Given the description of an element on the screen output the (x, y) to click on. 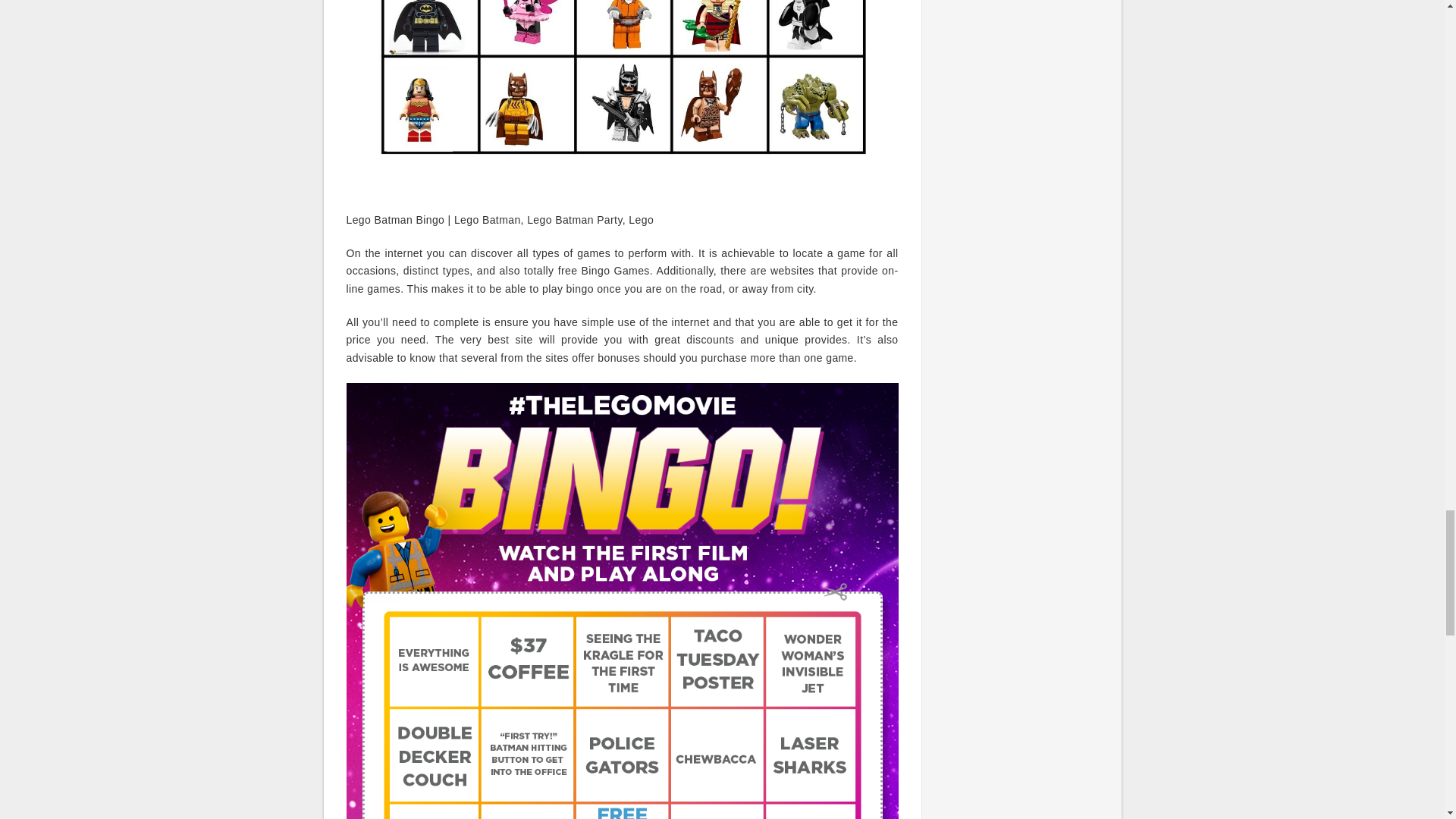
lego batman bingo lego batman lego batman party lego 2 (622, 97)
